Given the description of an element on the screen output the (x, y) to click on. 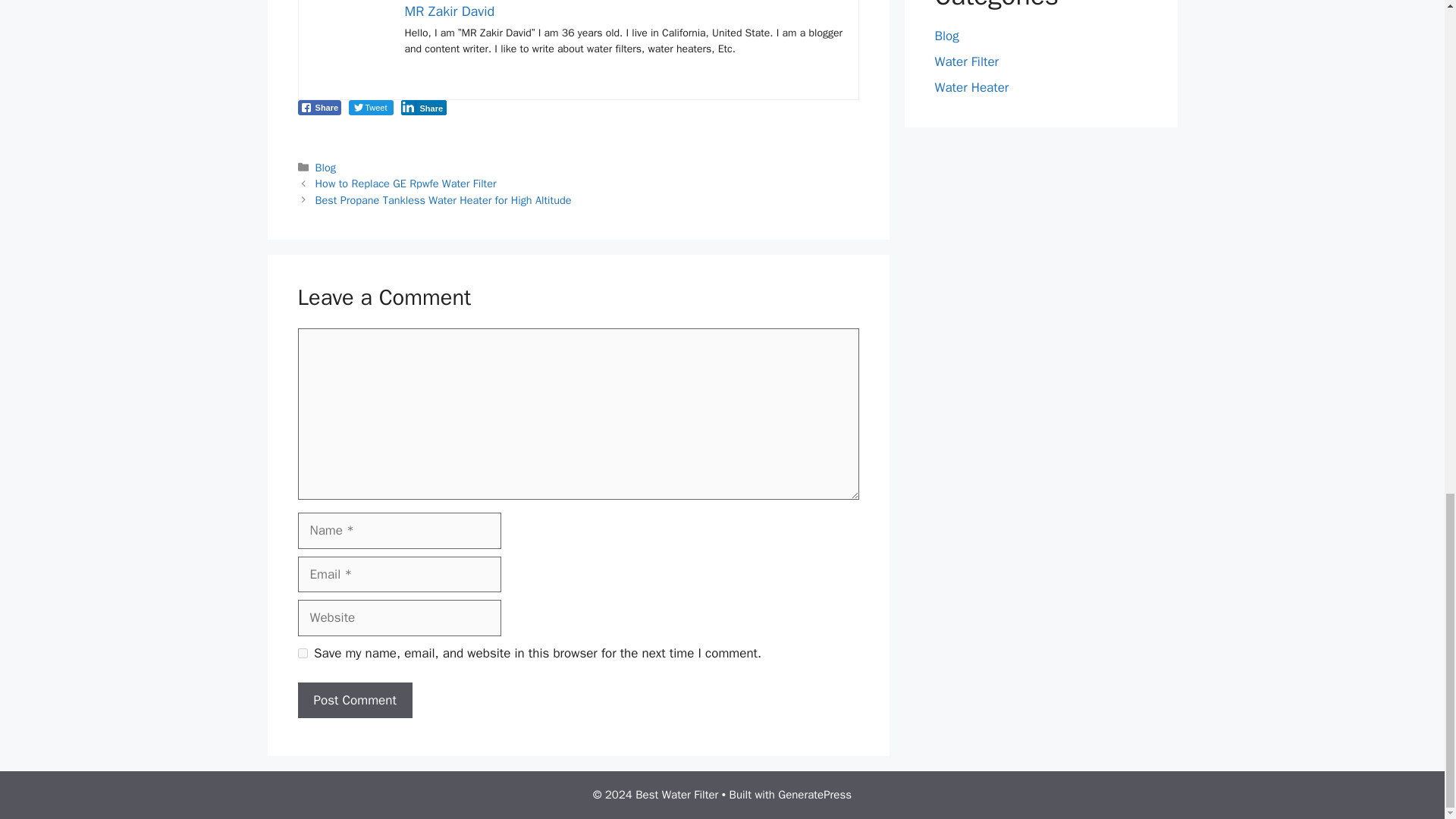
MR Zakir David (449, 11)
Post Comment (354, 700)
Tweet (371, 107)
Blog (325, 167)
Post Comment (354, 700)
Previous (405, 183)
yes (302, 653)
Share (423, 107)
How to Replace GE Rpwfe Water Filter (405, 183)
Next (443, 200)
Blog (946, 35)
Share (318, 107)
Best Propane Tankless Water Heater for High Altitude (443, 200)
